Given the description of an element on the screen output the (x, y) to click on. 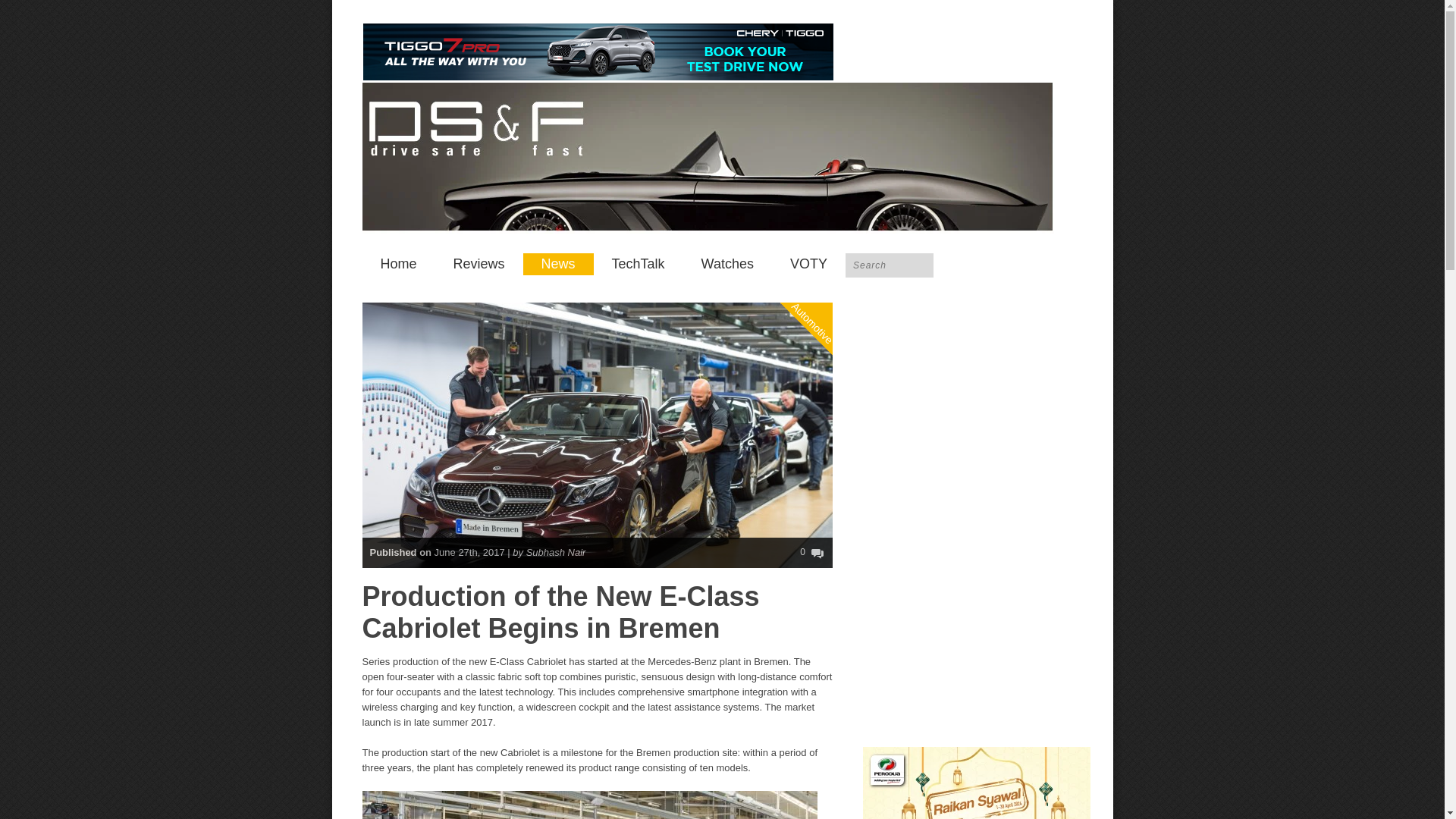
VOTY (808, 264)
Home (398, 264)
News (558, 264)
Watches (726, 264)
Automotive (828, 260)
TechTalk (638, 264)
Reviews (478, 264)
